Given the description of an element on the screen output the (x, y) to click on. 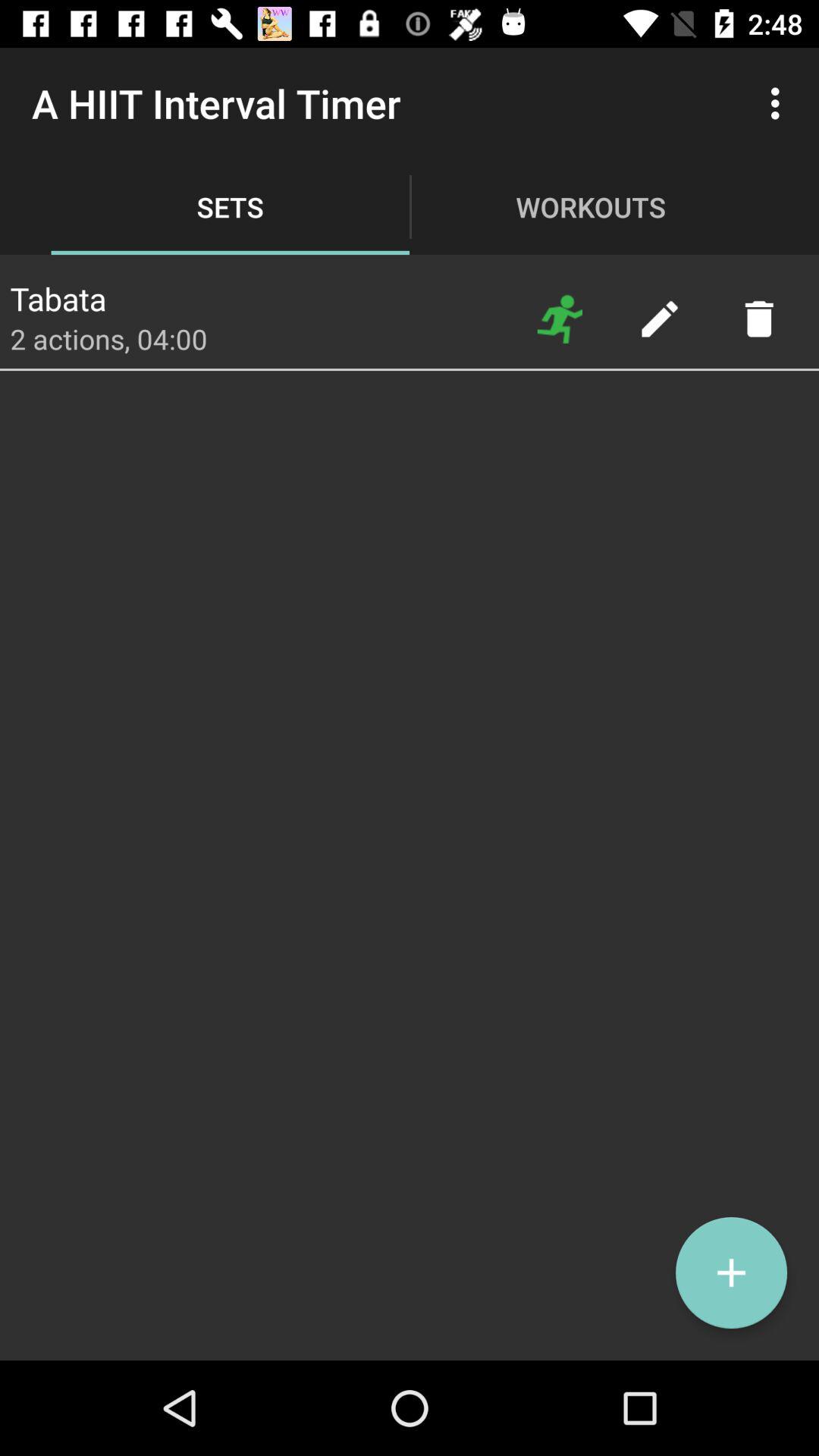
turn on the item next to the sets icon (559, 318)
